Given the description of an element on the screen output the (x, y) to click on. 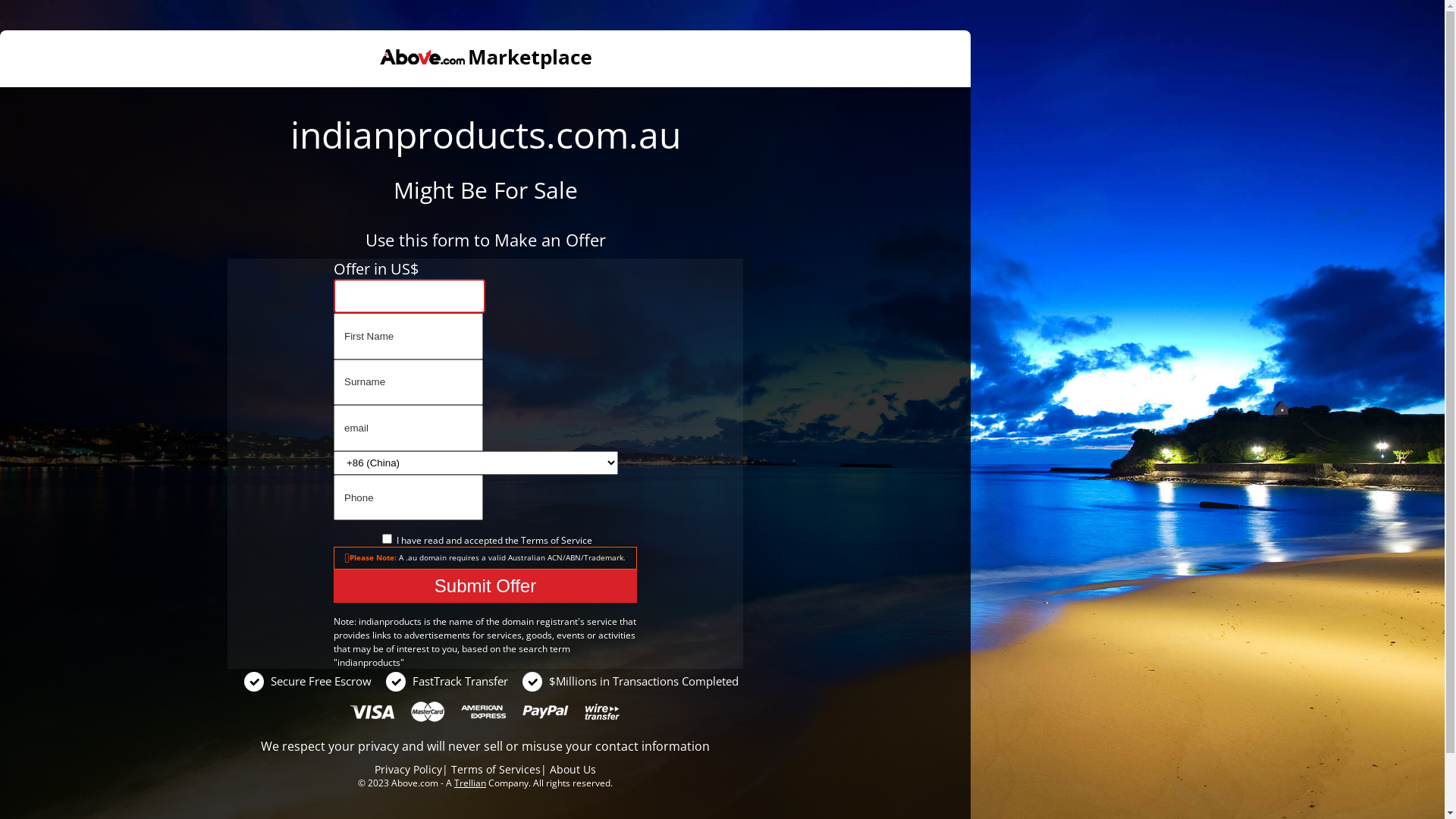
Trellian Element type: text (470, 782)
Terms Element type: text (533, 539)
About Us Element type: text (572, 769)
Privacy Policy Element type: text (408, 769)
Terms of Services Element type: text (495, 769)
Submit Offer Element type: text (485, 585)
